Given the description of an element on the screen output the (x, y) to click on. 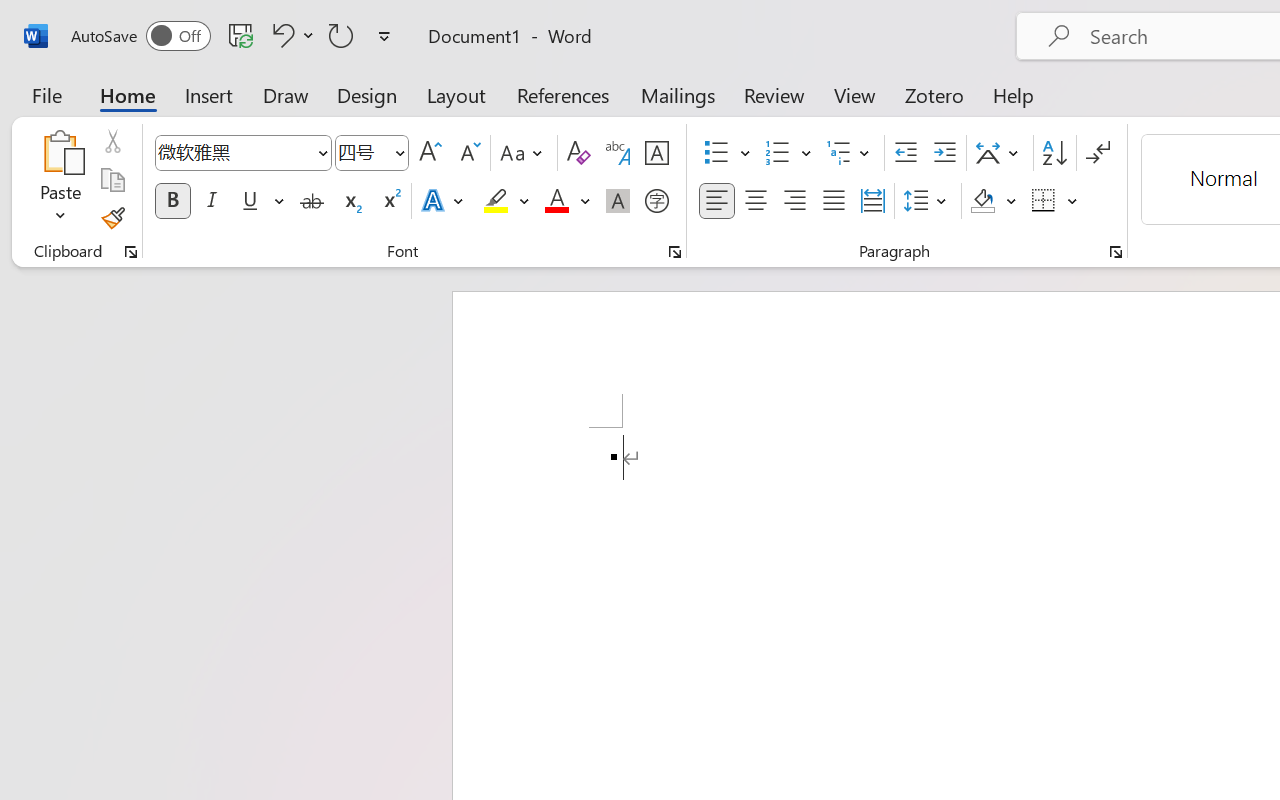
Repeat Style (341, 35)
